Given the description of an element on the screen output the (x, y) to click on. 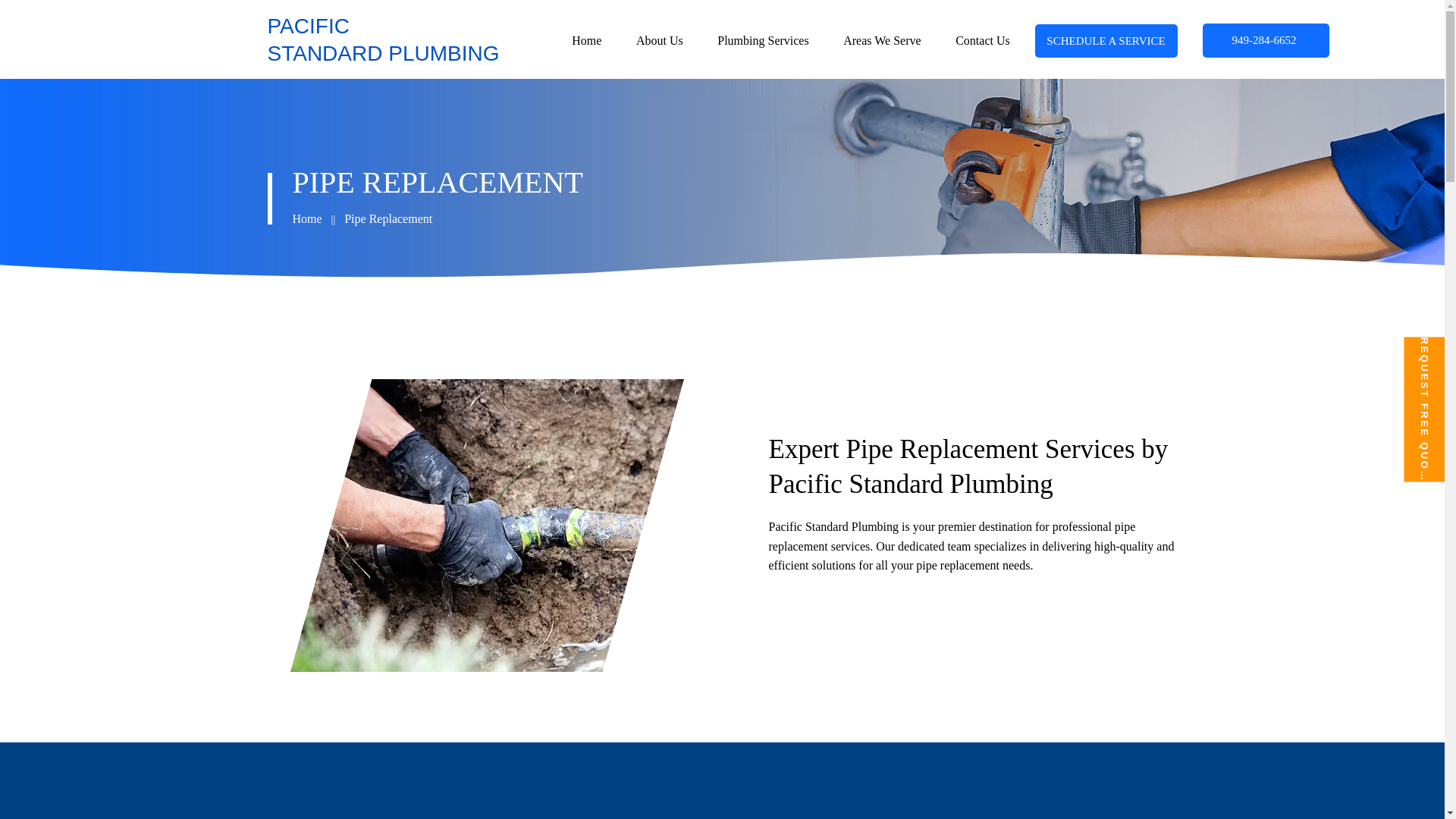
Home (586, 40)
Plumbing Services (382, 39)
About Us (791, 40)
